Given the description of an element on the screen output the (x, y) to click on. 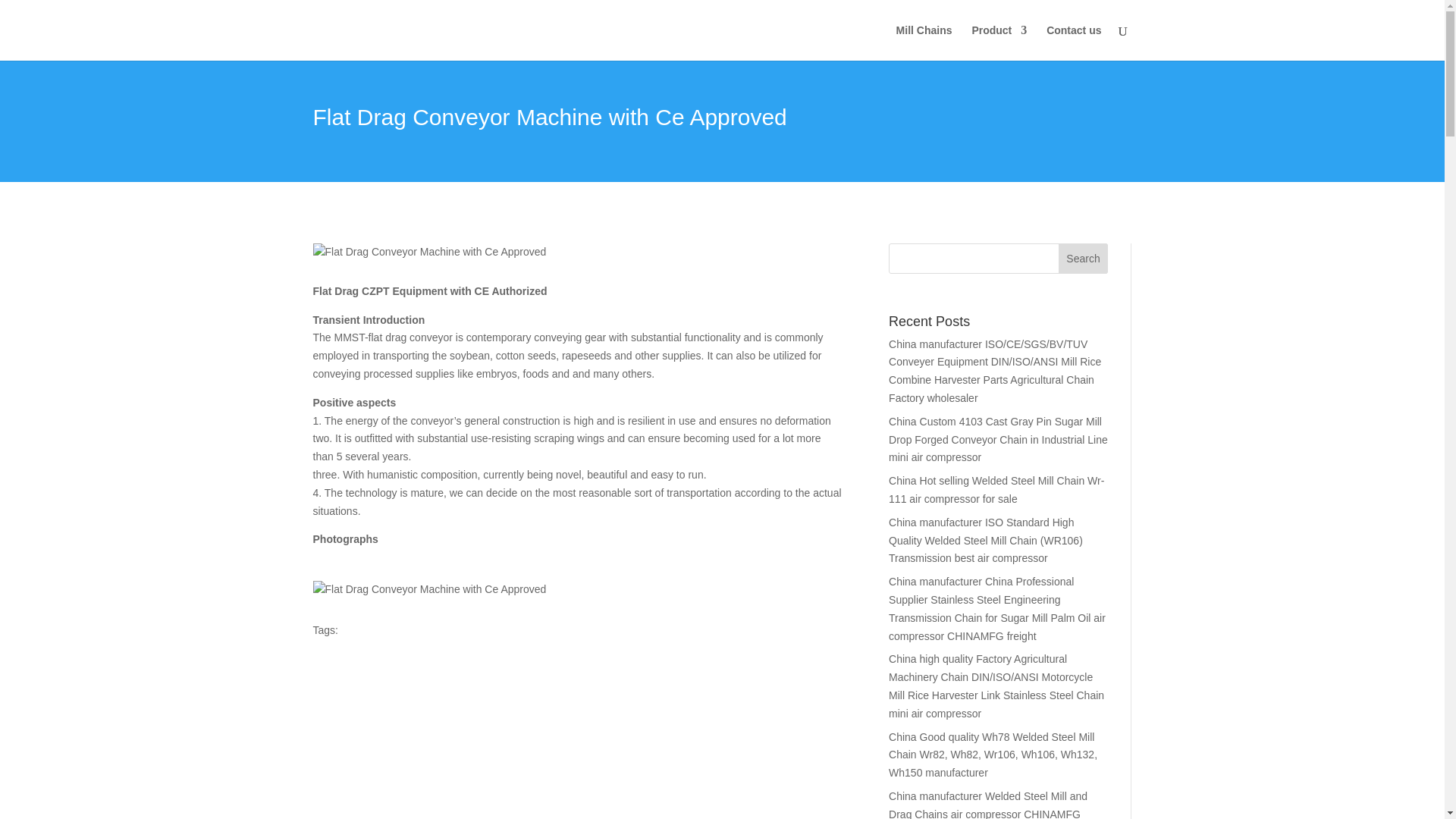
Flat Drag Conveyor Machine with Ce Approved (429, 252)
Flat Drag Conveyor Machine with Ce Approved (429, 589)
Search (1083, 258)
Search (1083, 258)
Product (998, 42)
Mill Chains (924, 42)
Contact us (1073, 42)
